Given the description of an element on the screen output the (x, y) to click on. 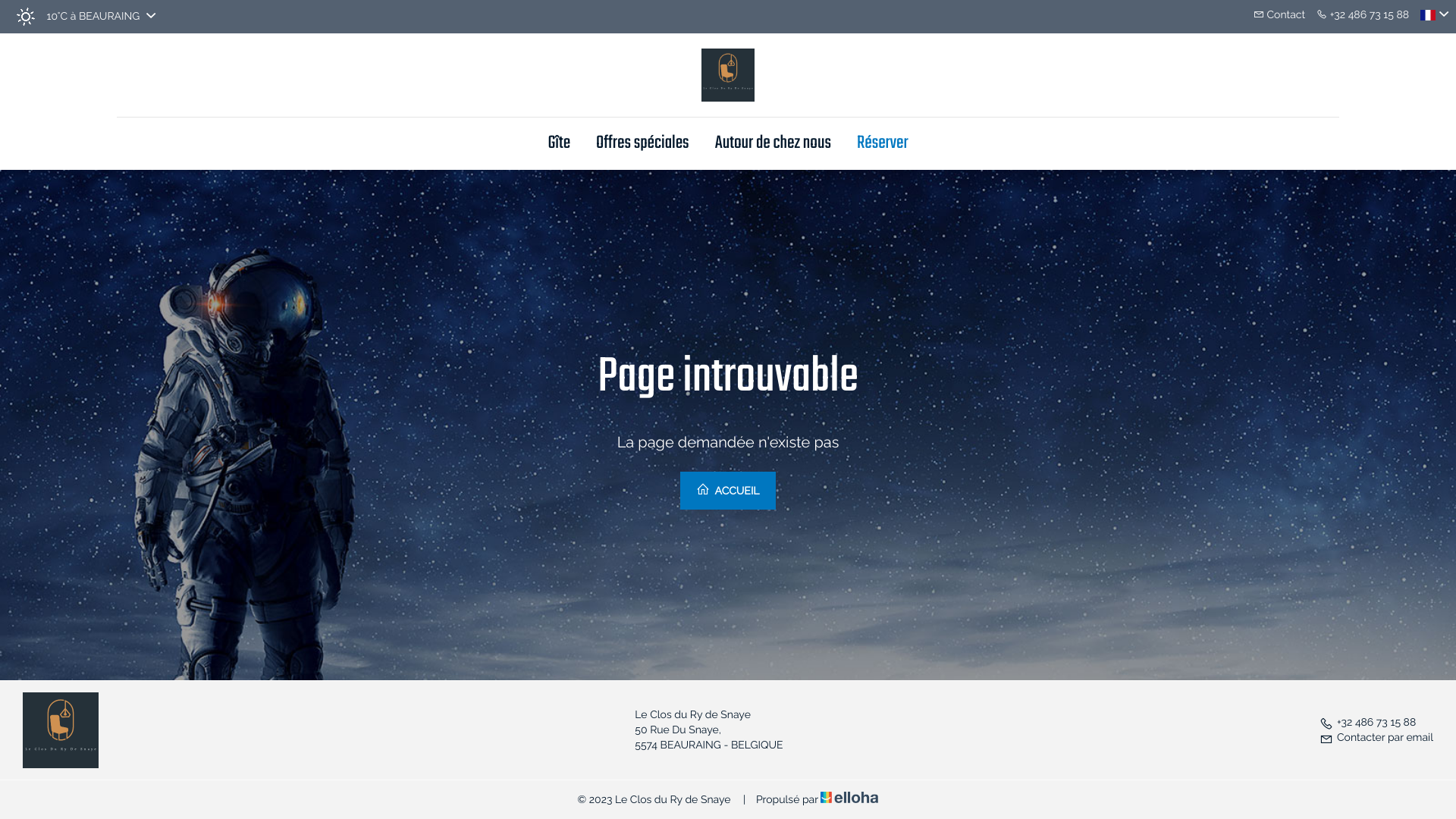
+32 486 73 15 88 Element type: text (1362, 14)
Contacter par email Element type: text (1376, 737)
Contact Element type: text (1279, 14)
+32 486 73 15 88 Element type: text (1367, 722)
ACCUEIL Element type: text (727, 490)
Autour de chez nous Element type: text (773, 143)
